Given the description of an element on the screen output the (x, y) to click on. 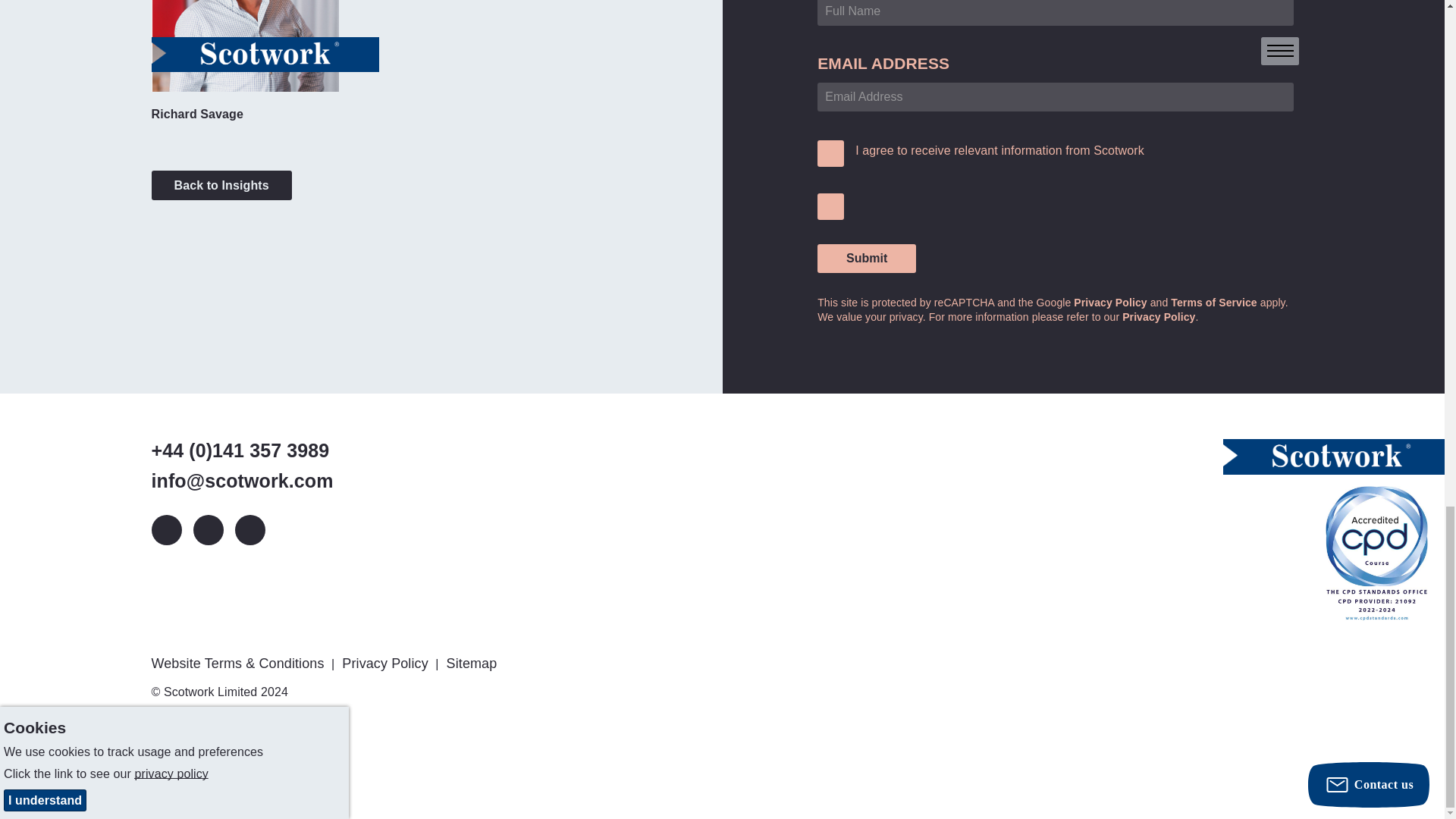
twitter (207, 530)
Privacy Policy (1158, 316)
Google Terms (1213, 302)
Google Privacy Policy (1110, 302)
Terms of Service (1213, 302)
Sitemap (473, 662)
Scotwork privacy policy (1158, 316)
Privacy Policy (386, 662)
facebook (249, 530)
Submit (865, 258)
Back to Insights (221, 184)
linkedin (166, 530)
Privacy Policy (1110, 302)
Sitemap (473, 662)
Privacy Policy (386, 662)
